Given the description of an element on the screen output the (x, y) to click on. 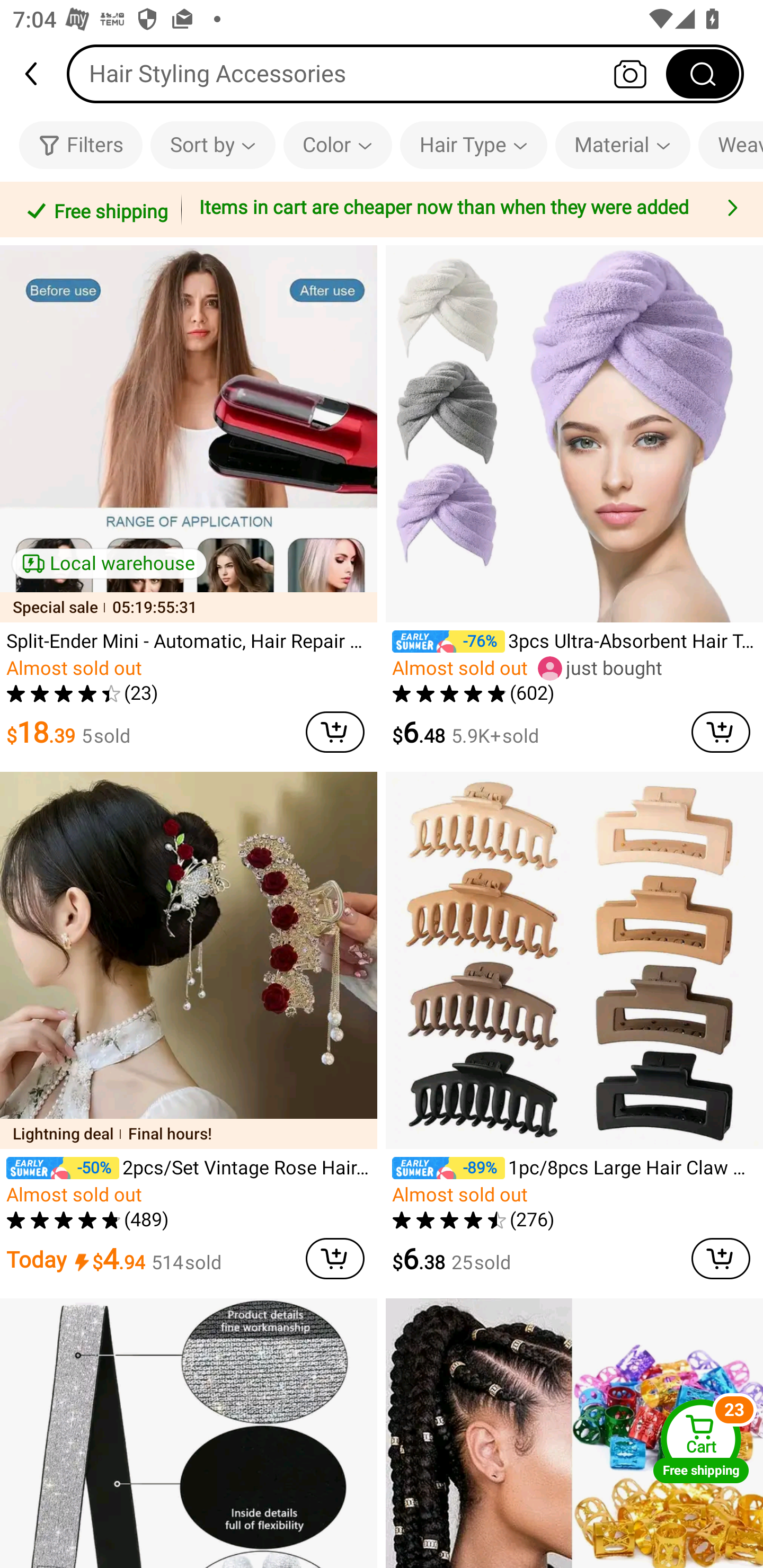
back (39, 73)
Hair Styling Accessories (405, 73)
Filters (80, 144)
Sort by (212, 144)
Color (337, 144)
Hair Type (473, 144)
Material (622, 144)
 Free shipping (93, 208)
Cart Free shipping Cart (701, 1440)
